Given the description of an element on the screen output the (x, y) to click on. 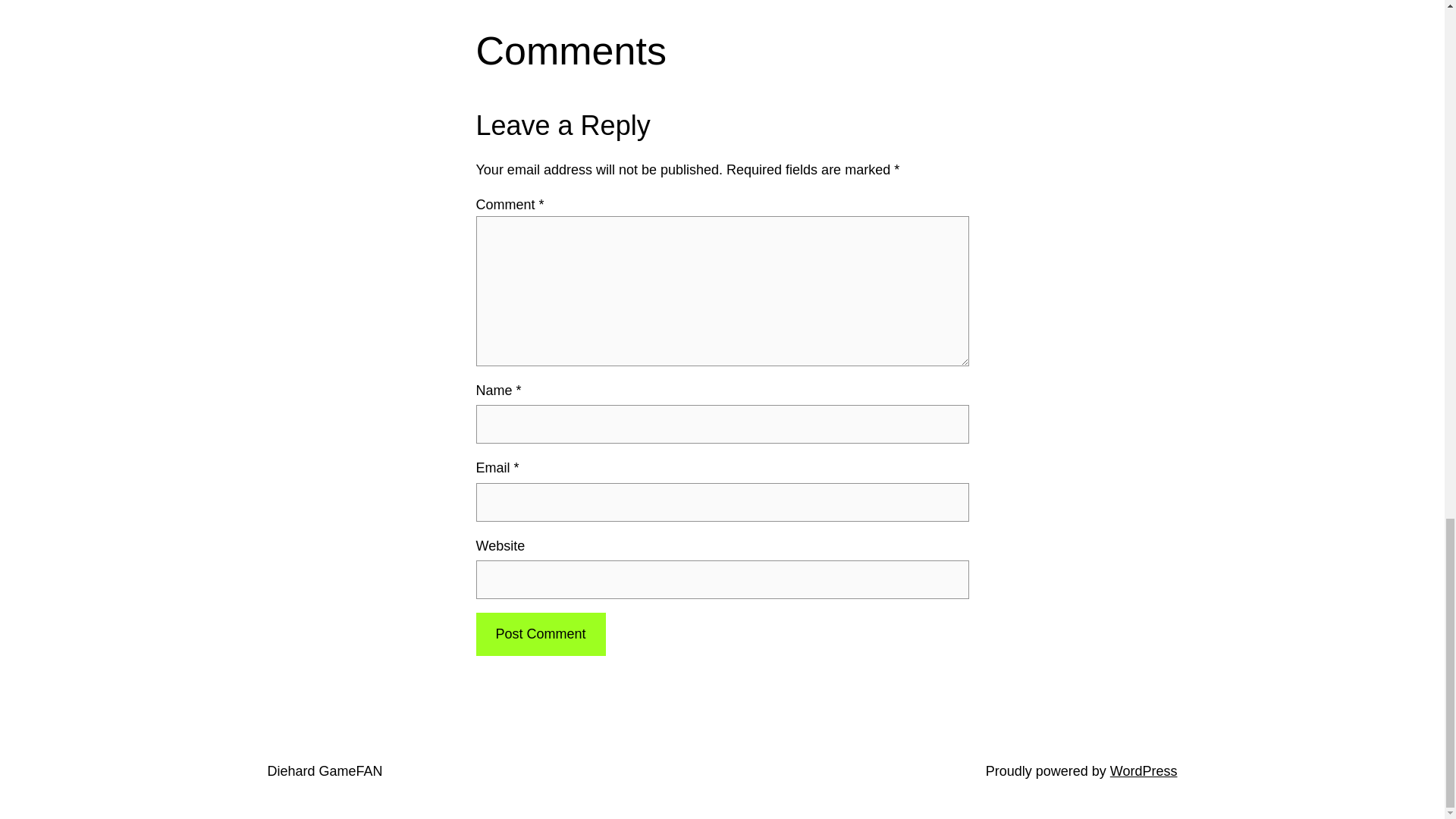
Post Comment (540, 634)
Diehard GameFAN (323, 770)
WordPress (1143, 770)
Post Comment (540, 634)
